Given the description of an element on the screen output the (x, y) to click on. 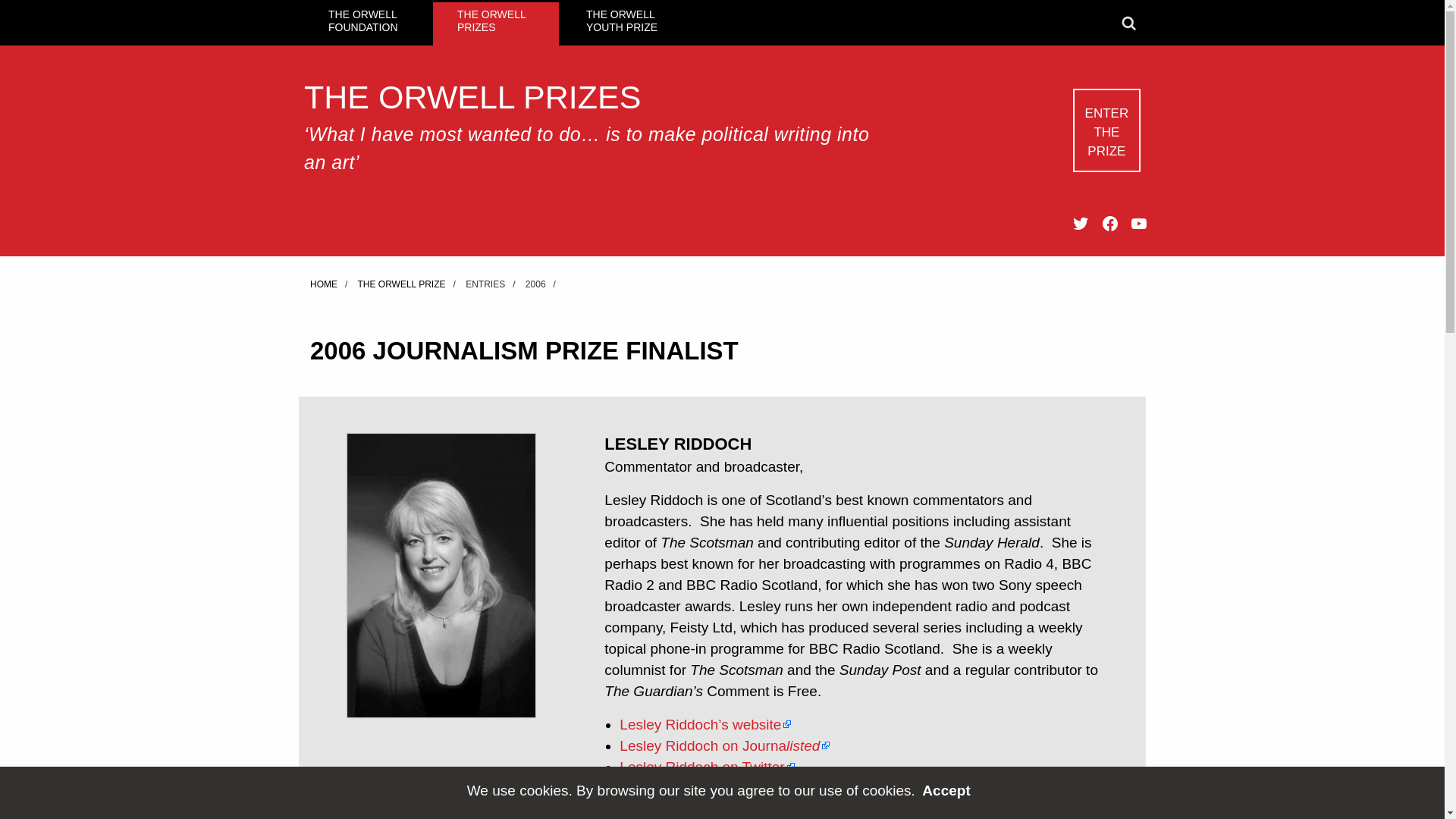
Home (323, 284)
The Orwell Prize (400, 284)
